Given the description of an element on the screen output the (x, y) to click on. 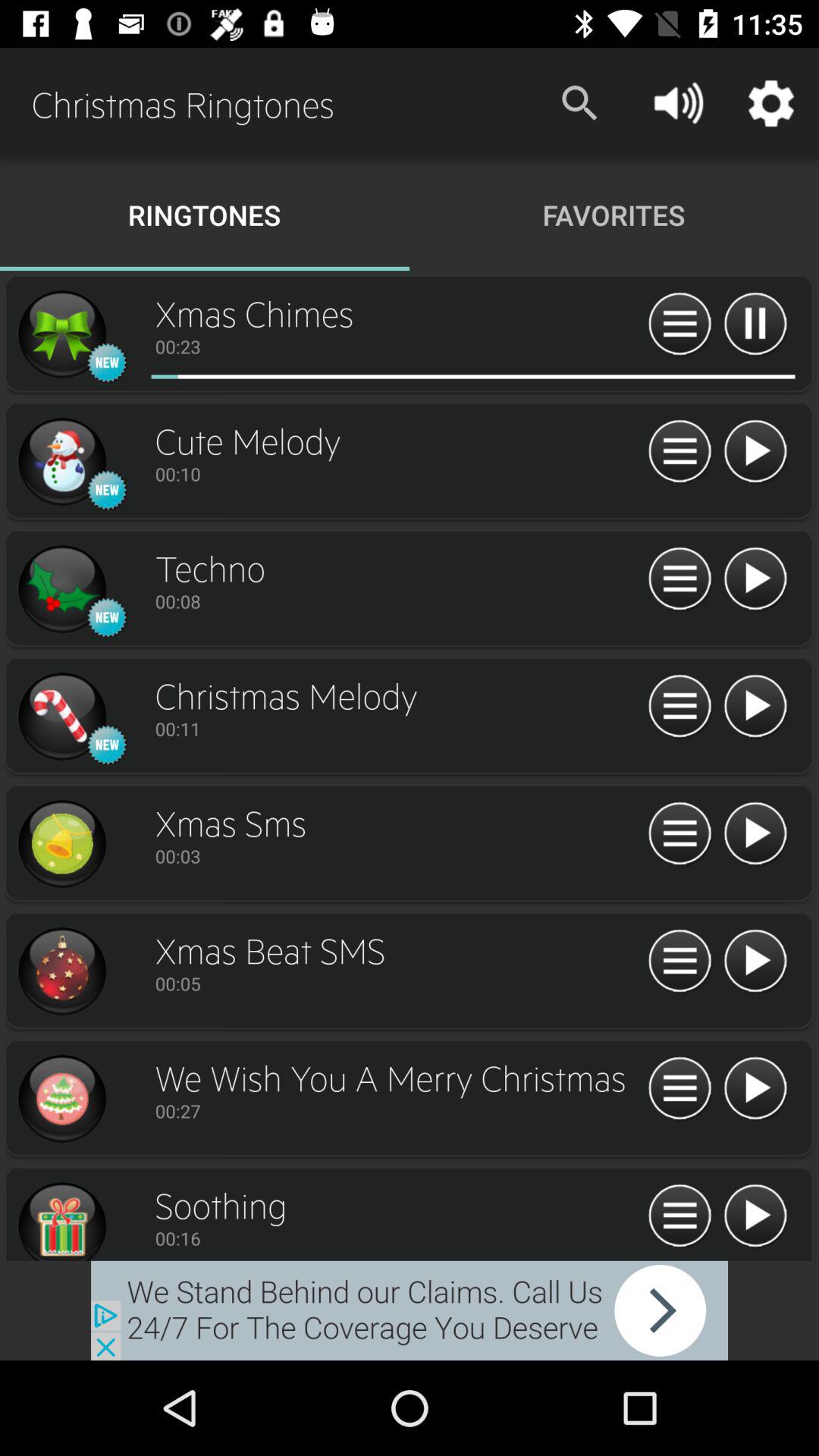
audio (61, 334)
